Given the description of an element on the screen output the (x, y) to click on. 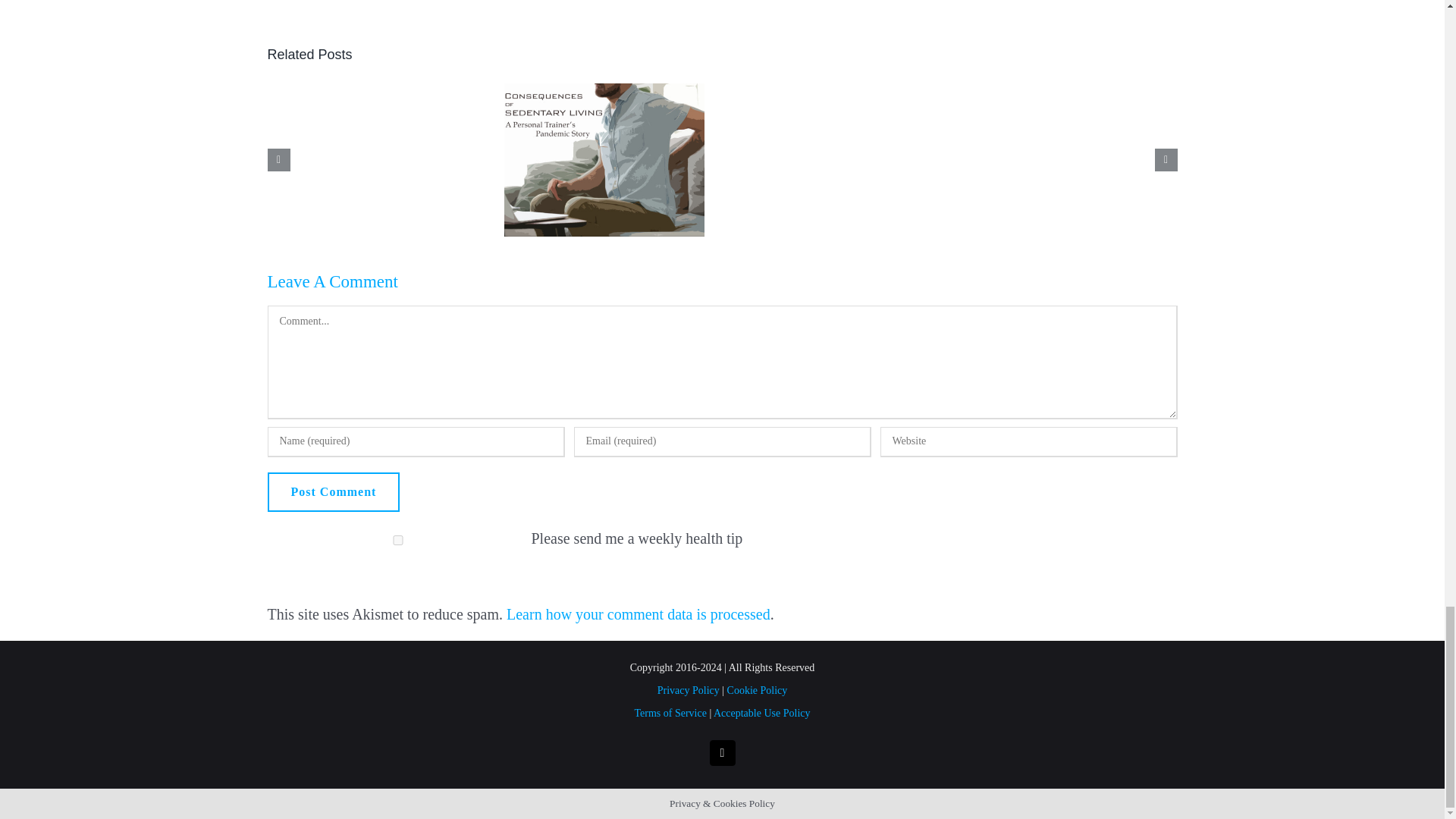
Acceptable Use Policy (761, 713)
1 (396, 540)
Terms of Service (669, 713)
Post Comment (332, 491)
Tiktok (722, 752)
Cookie Policy (756, 690)
Tiktok (722, 752)
Learn how your comment data is processed (638, 614)
Post Comment (332, 491)
Privacy Policy (688, 690)
